Given the description of an element on the screen output the (x, y) to click on. 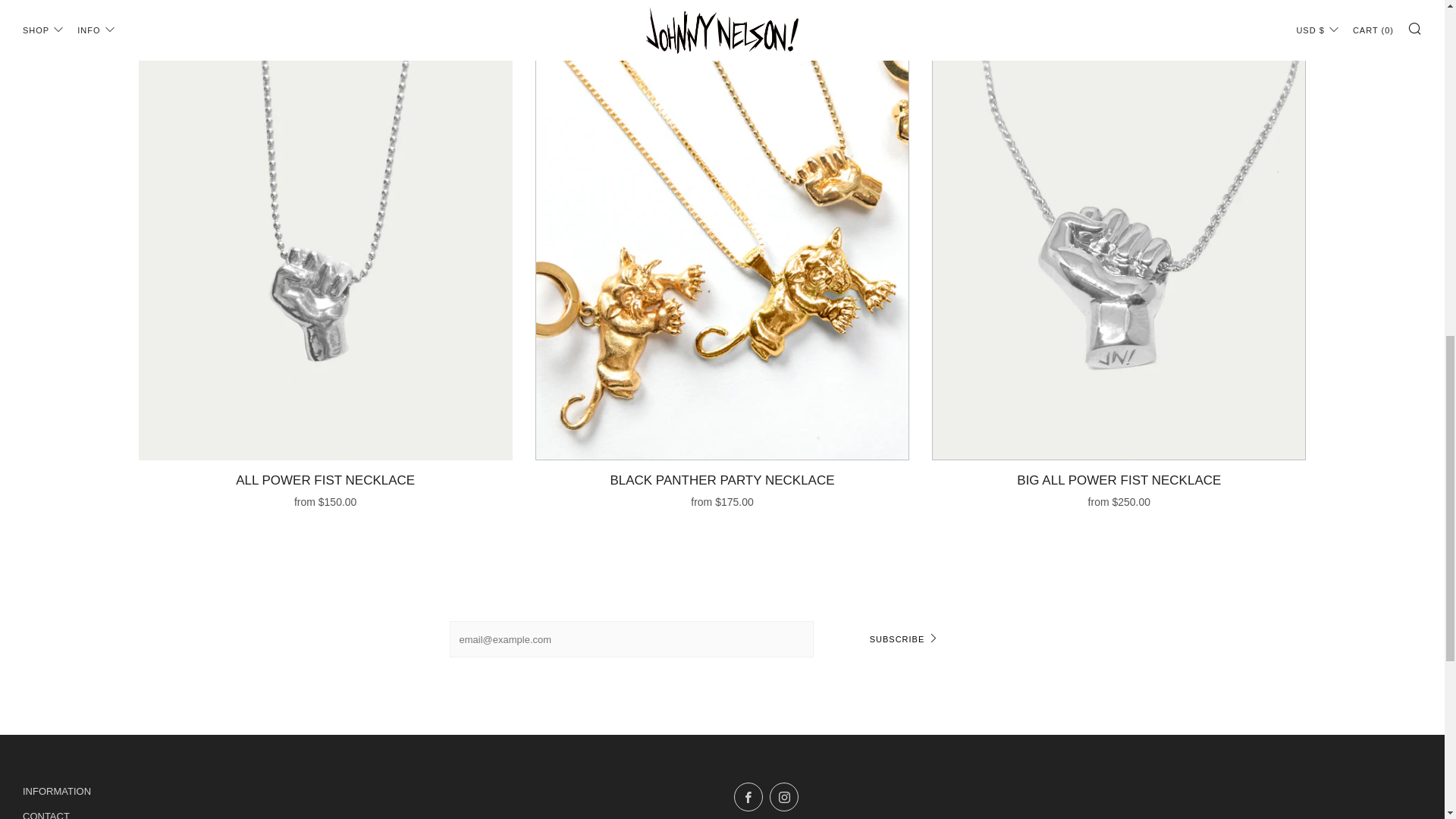
BIG ALL POWER FIST NECKLACE (1118, 488)
ALL POWER FIST NECKLACE (325, 488)
BLACK PANTHER PARTY NECKLACE (721, 488)
